Given the description of an element on the screen output the (x, y) to click on. 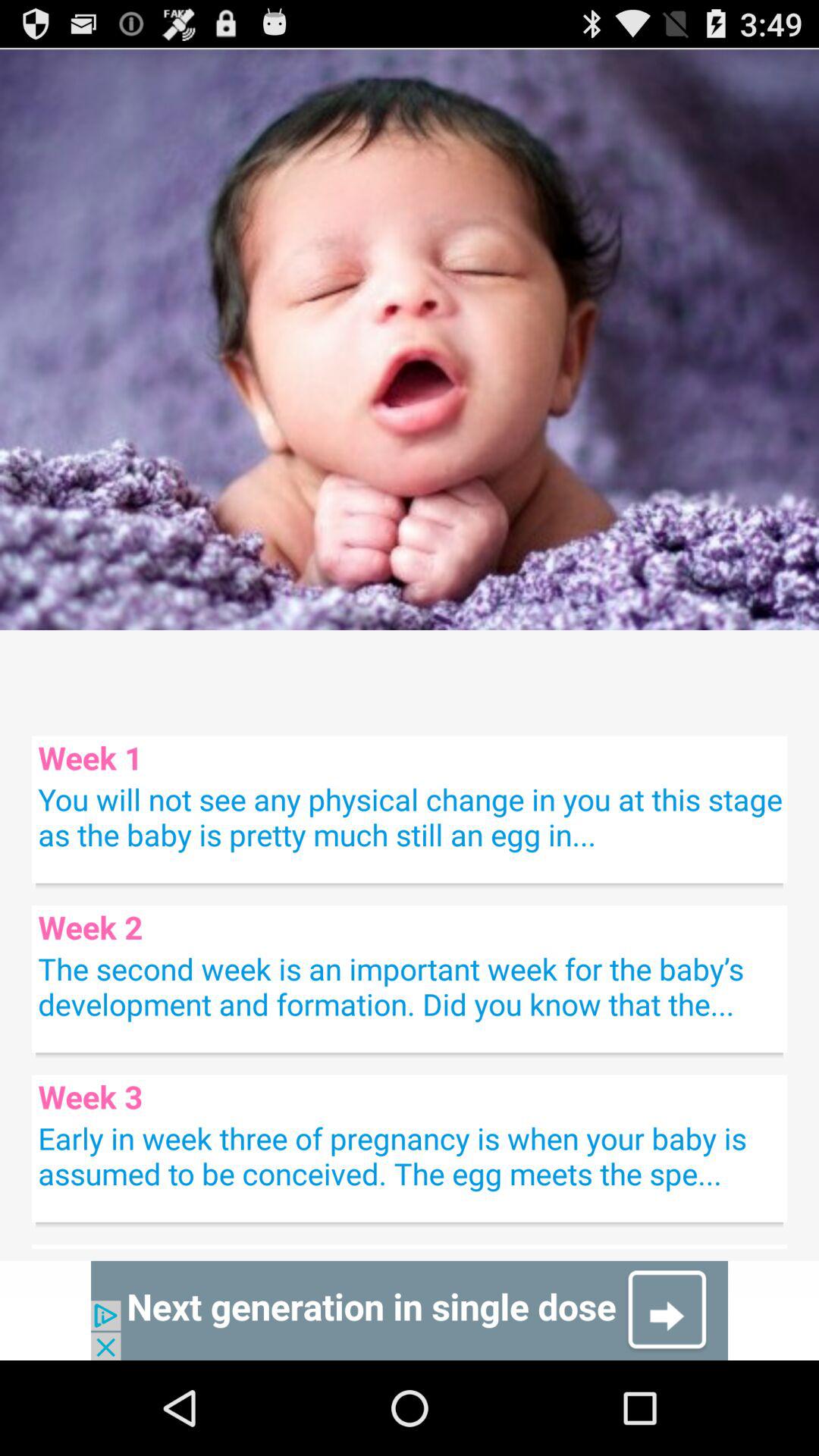
open advertisement (409, 1310)
